Given the description of an element on the screen output the (x, y) to click on. 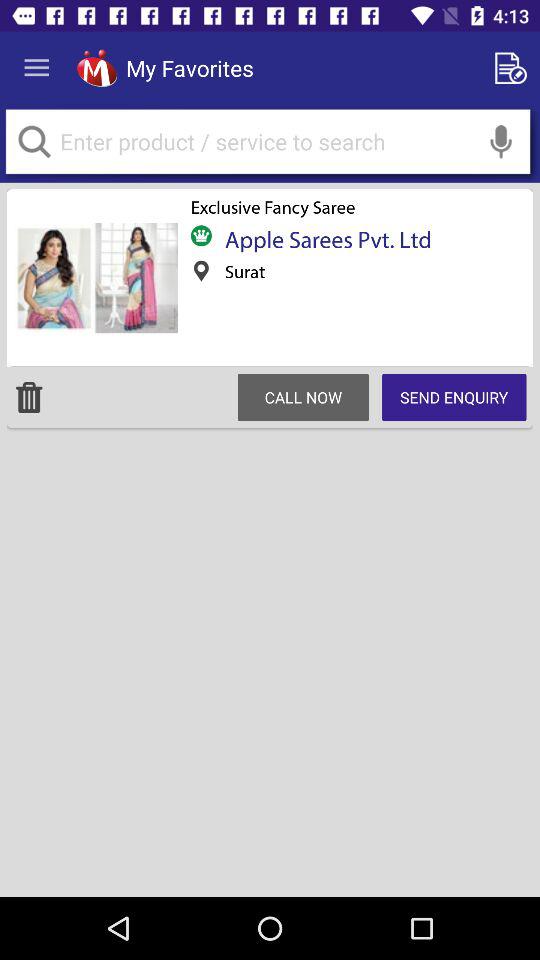
tap the item next to exclusive fancy saree item (95, 278)
